Given the description of an element on the screen output the (x, y) to click on. 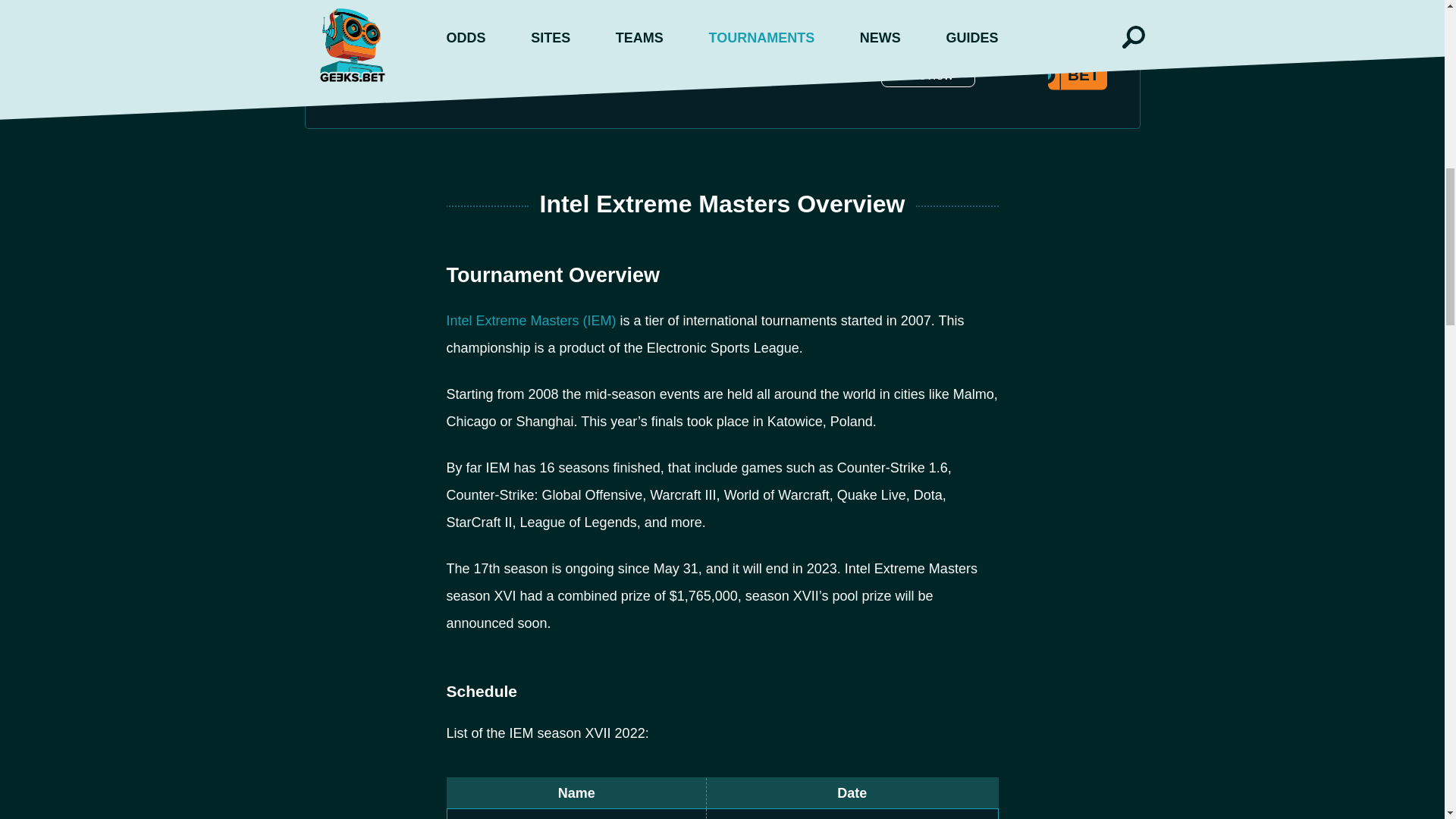
Review (927, 74)
BET (1070, 71)
Katowice (490, 817)
